Given the description of an element on the screen output the (x, y) to click on. 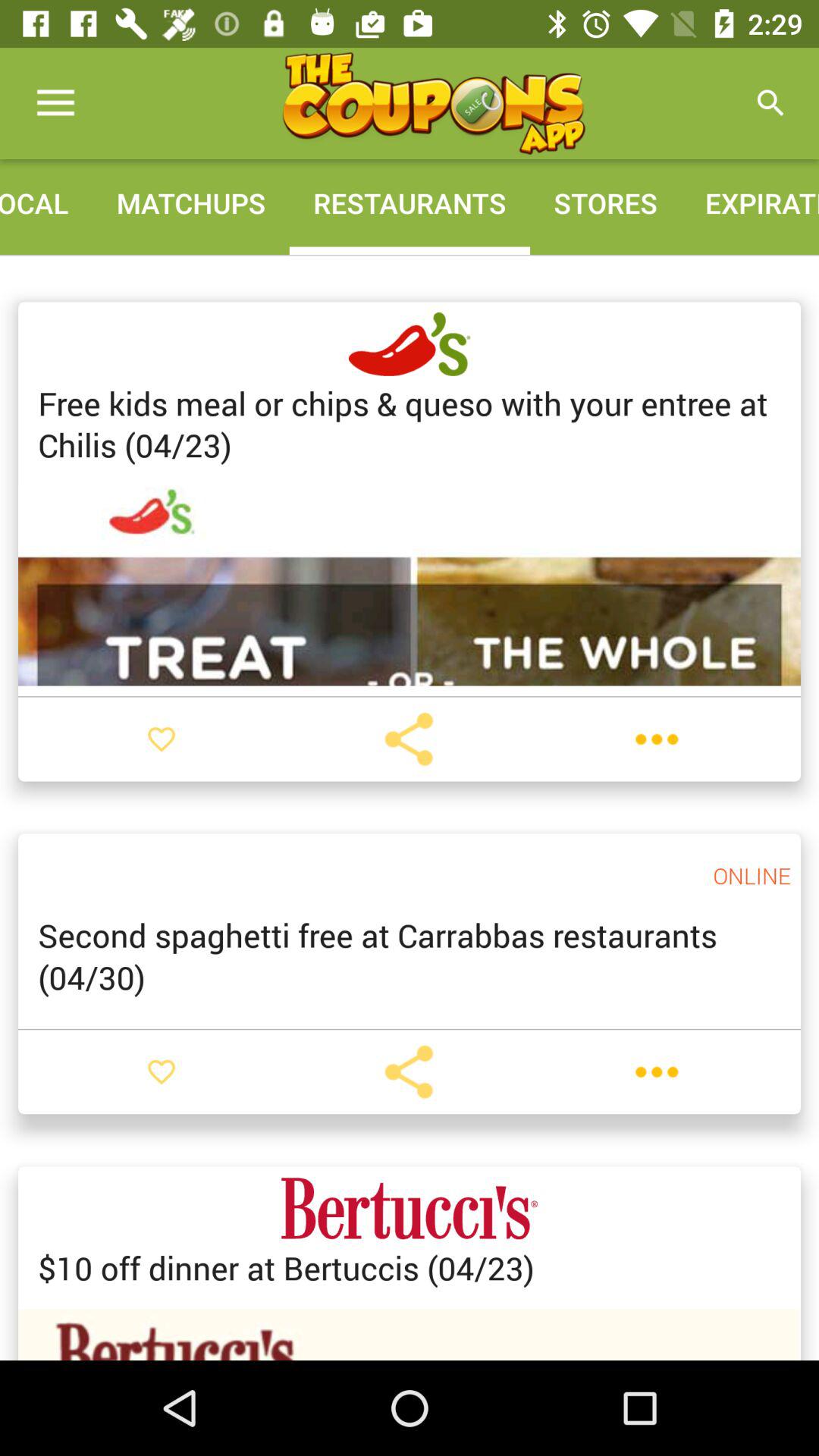
flip to the expiration icon (750, 202)
